Given the description of an element on the screen output the (x, y) to click on. 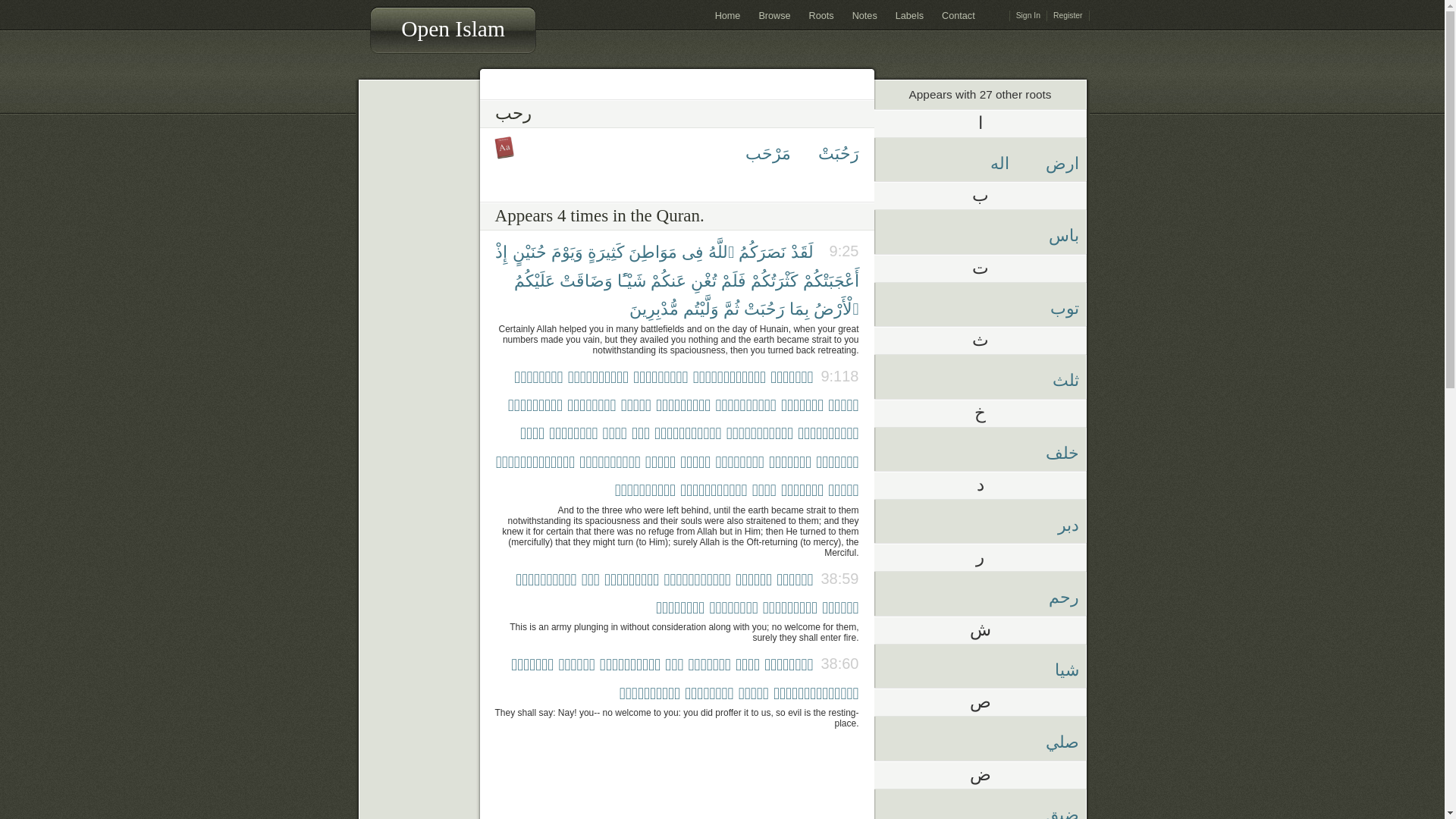
Browse (773, 15)
Labels (909, 15)
9:25 (835, 251)
Register (1067, 15)
9:118 (835, 376)
Contact (957, 15)
Open Islam (453, 23)
Roots (821, 15)
Home (727, 15)
Notes (864, 15)
Sign In (1028, 15)
